Given the description of an element on the screen output the (x, y) to click on. 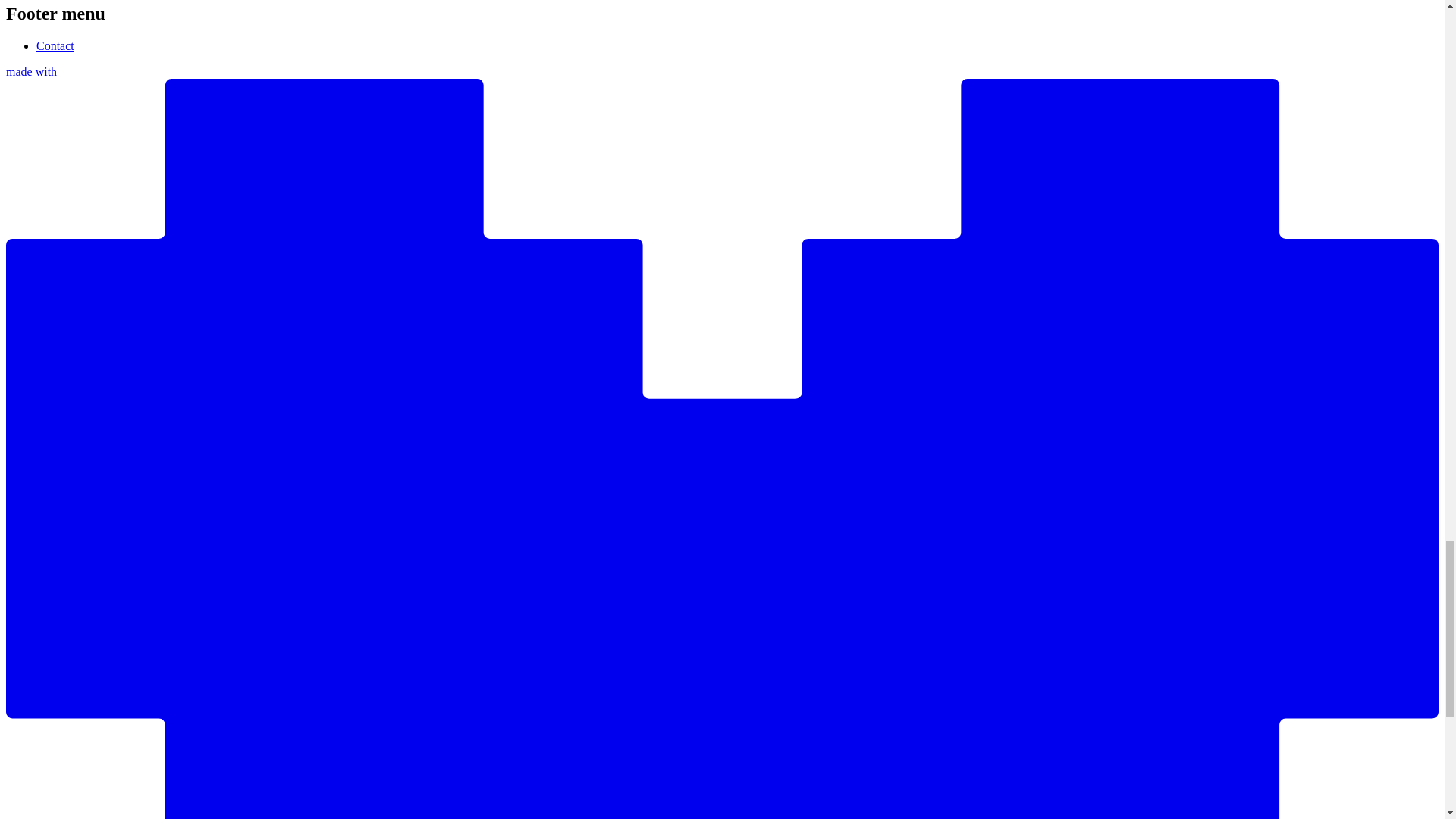
Contact (55, 45)
